Given the description of an element on the screen output the (x, y) to click on. 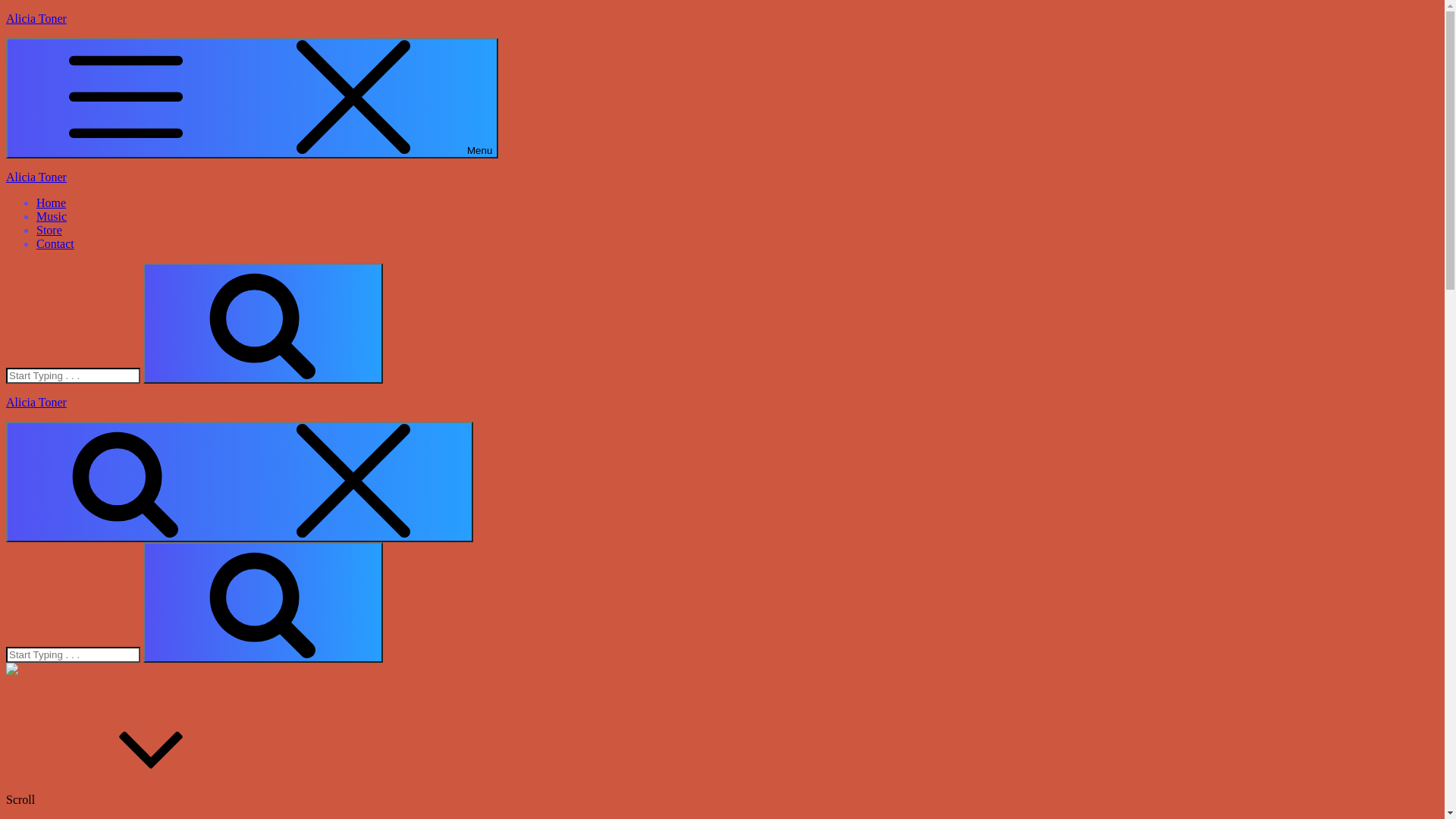
Menu Element type: text (252, 97)
Search Element type: text (262, 602)
Skip to content Element type: text (5, 11)
Search Element type: text (239, 481)
Home Element type: text (50, 202)
Store Element type: text (49, 229)
Alicia Toner Element type: text (36, 18)
Alicia Toner Element type: text (36, 176)
Contact Element type: text (55, 243)
Search Element type: text (262, 323)
Alicia Toner Element type: text (36, 401)
Music Element type: text (51, 216)
